Given the description of an element on the screen output the (x, y) to click on. 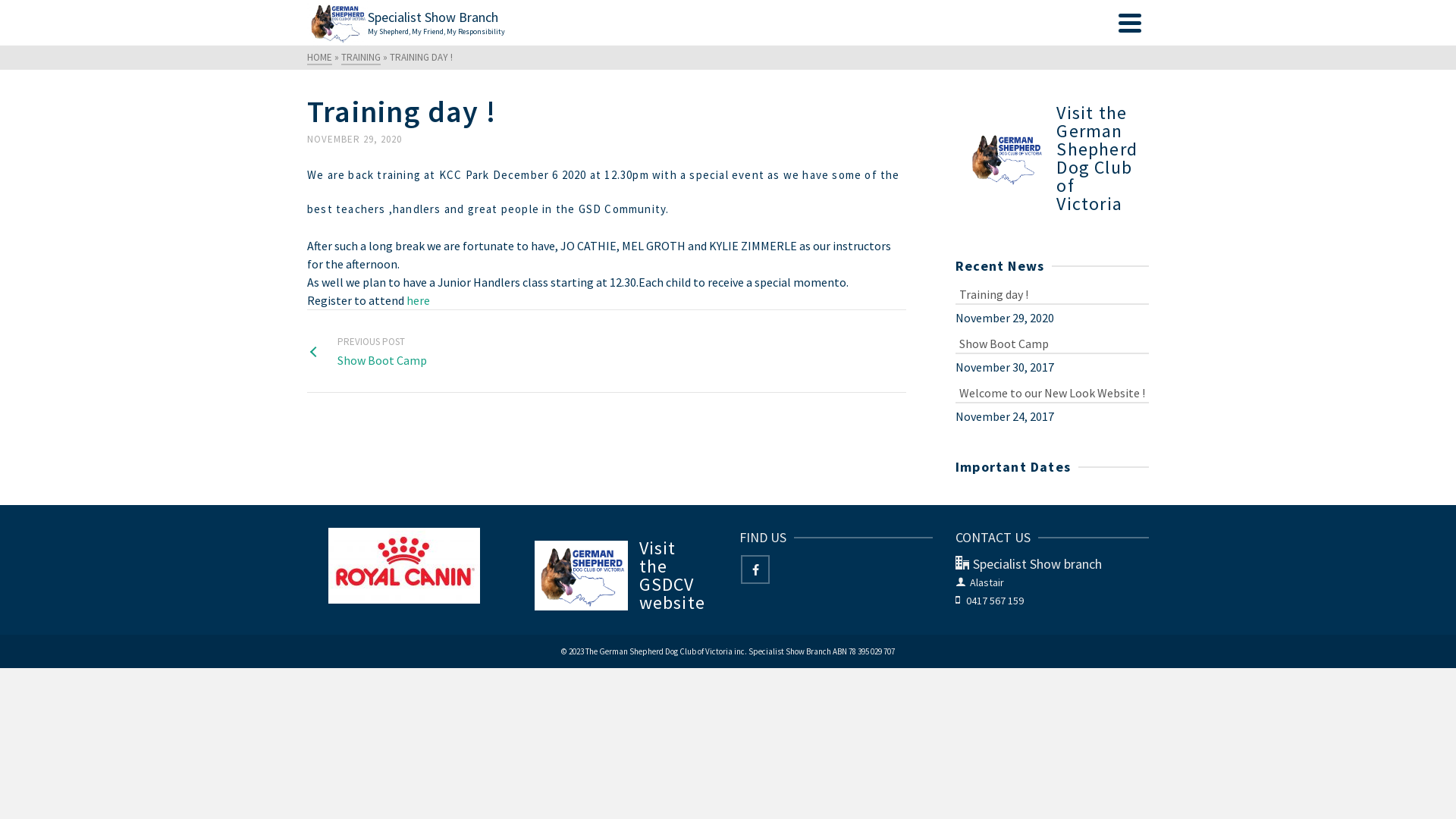
Training day ! Element type: text (1051, 292)
PREVIOUS POST
Show Boot Camp Element type: text (366, 350)
TRAINING Element type: text (360, 57)
Visit the German Shepherd Dog Club of Victoria Element type: text (1051, 158)
HOME Element type: text (319, 57)
Visit the GSDCV website Element type: text (619, 575)
here Element type: text (417, 299)
Show Boot Camp Element type: text (1051, 342)
Welcome to our New Look Website ! Element type: text (1051, 391)
